Given the description of an element on the screen output the (x, y) to click on. 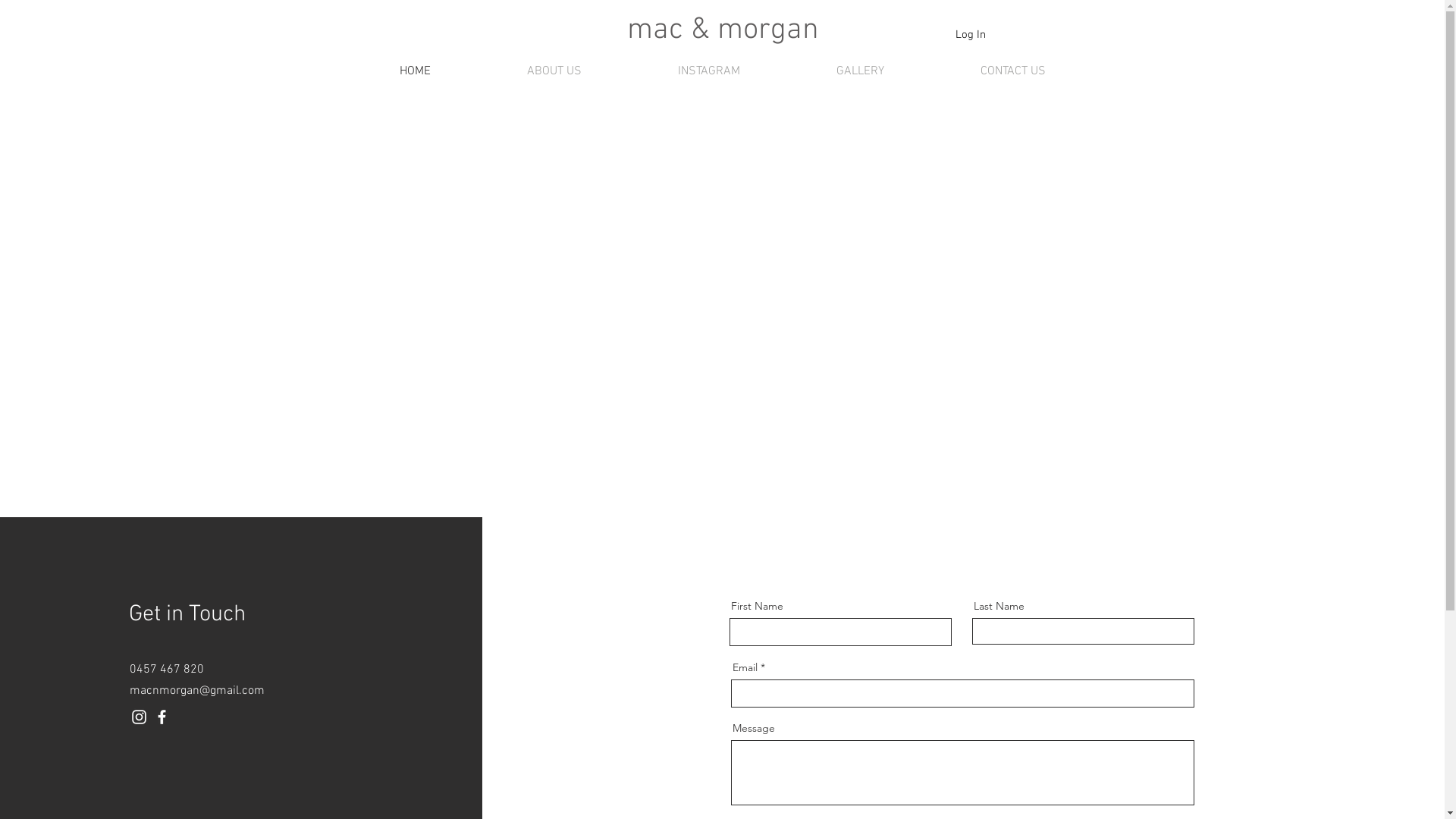
Log In Element type: text (970, 34)
macnmorgan@gmail.com Element type: text (196, 690)
HOME Element type: text (414, 71)
CONTACT US Element type: text (1013, 71)
mac & morgan Element type: text (722, 30)
INSTAGRAM Element type: text (708, 71)
GALLERY Element type: text (860, 71)
ABOUT US Element type: text (554, 71)
